Given the description of an element on the screen output the (x, y) to click on. 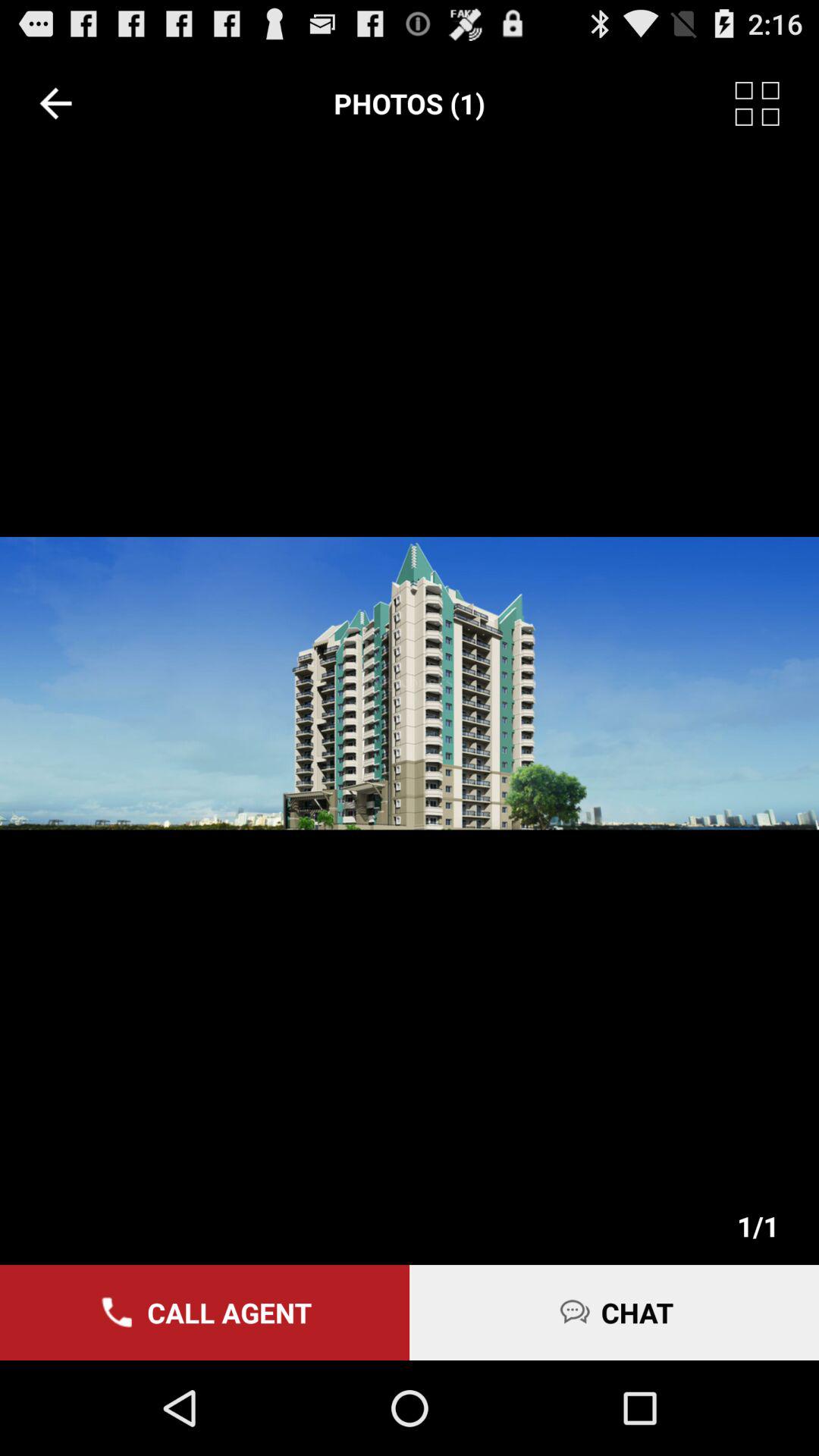
open the item next to the photos (1) icon (777, 103)
